Given the description of an element on the screen output the (x, y) to click on. 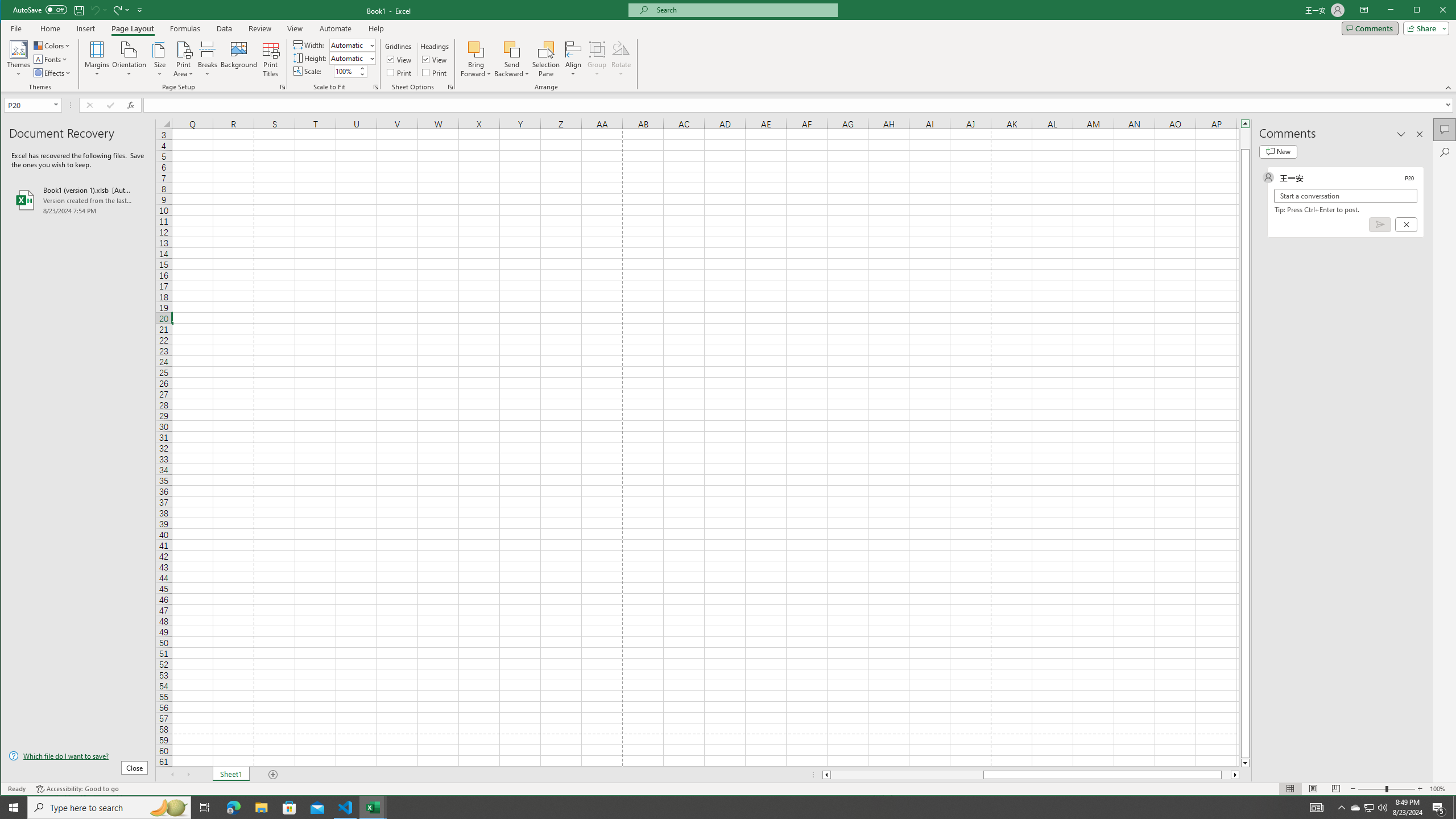
Print (1355, 807)
More (434, 72)
Maximize (361, 68)
Page left (1432, 11)
Visual Studio Code - 1 running window (906, 774)
